Given the description of an element on the screen output the (x, y) to click on. 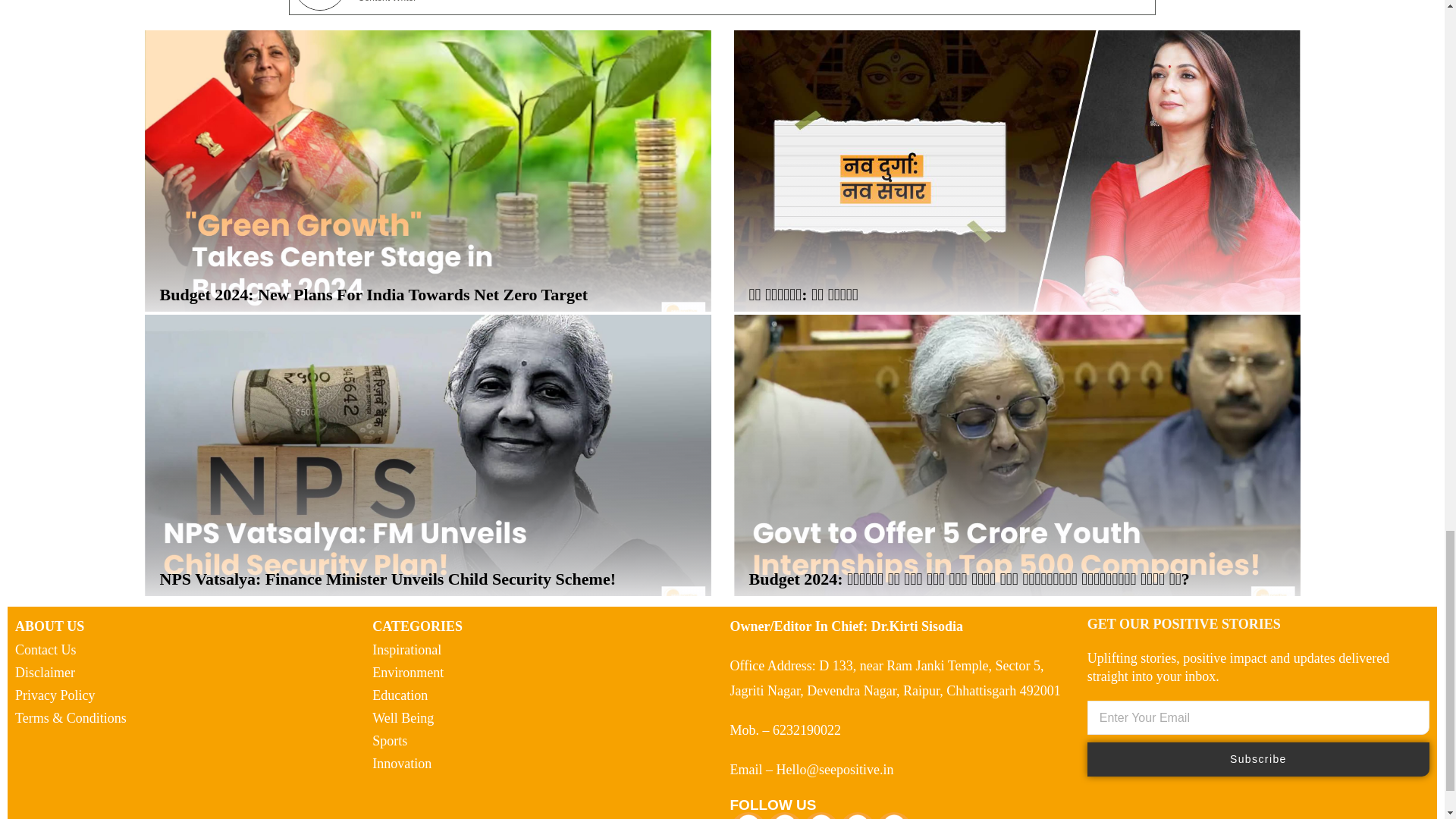
Page 1 (1254, 667)
Page 1 (185, 626)
Page 1 (543, 626)
